Given the description of an element on the screen output the (x, y) to click on. 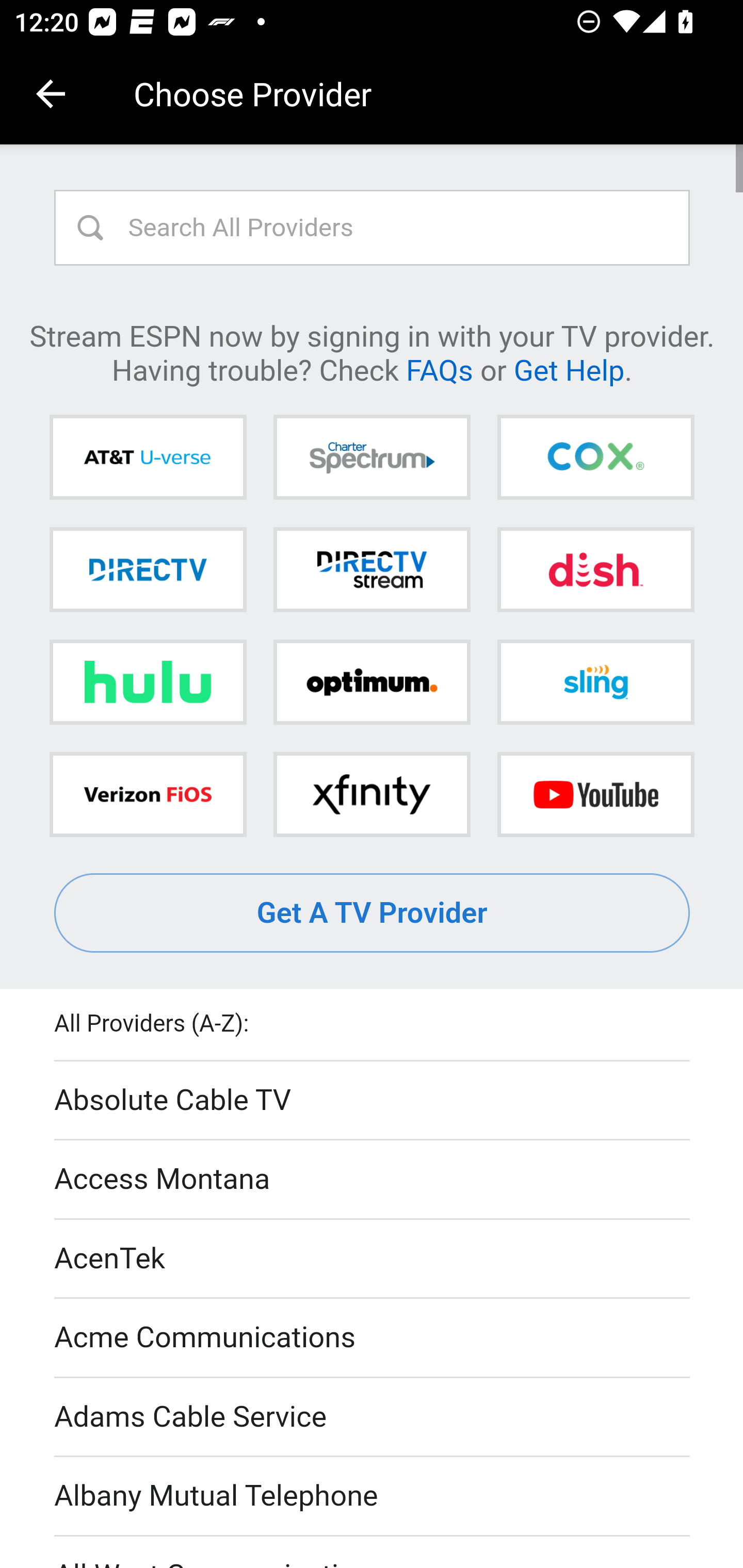
Navigate up (50, 93)
FAQs (438, 369)
Get Help (569, 369)
AT&T U-verse (147, 457)
Charter Spectrum (371, 457)
Cox (595, 457)
DIRECTV (147, 568)
DIRECTV STREAM (371, 568)
DISH (595, 568)
Hulu (147, 681)
Optimum (371, 681)
Sling TV (595, 681)
Verizon FiOS (147, 793)
Xfinity (371, 793)
YouTube TV (595, 793)
Get A TV Provider (372, 912)
Absolute Cable TV (372, 1100)
Access Montana (372, 1178)
AcenTek (372, 1258)
Acme Communications (372, 1338)
Adams Cable Service (372, 1417)
Albany Mutual Telephone (372, 1497)
